Given the description of an element on the screen output the (x, y) to click on. 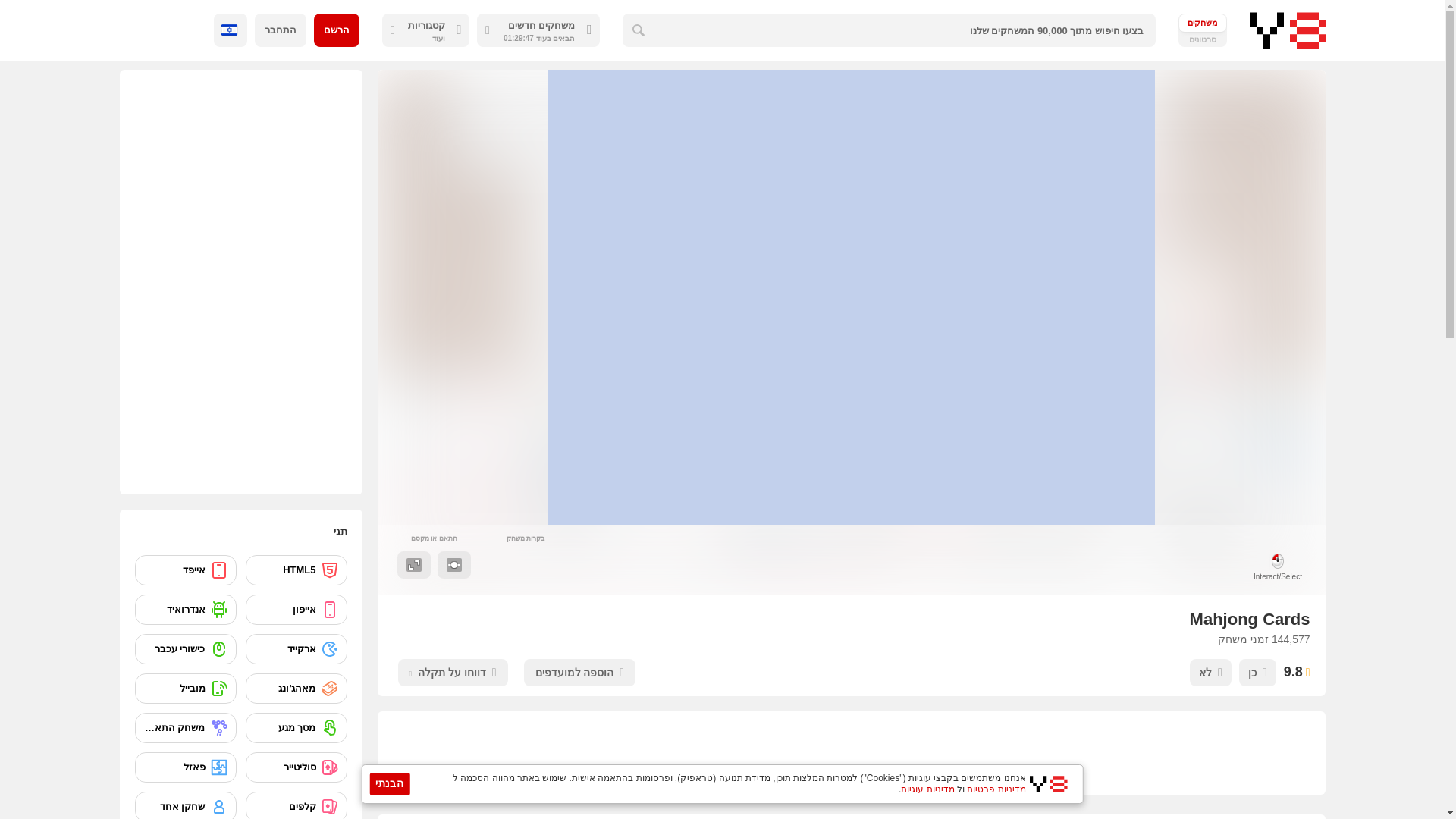
HTML5 (296, 570)
